Given the description of an element on the screen output the (x, y) to click on. 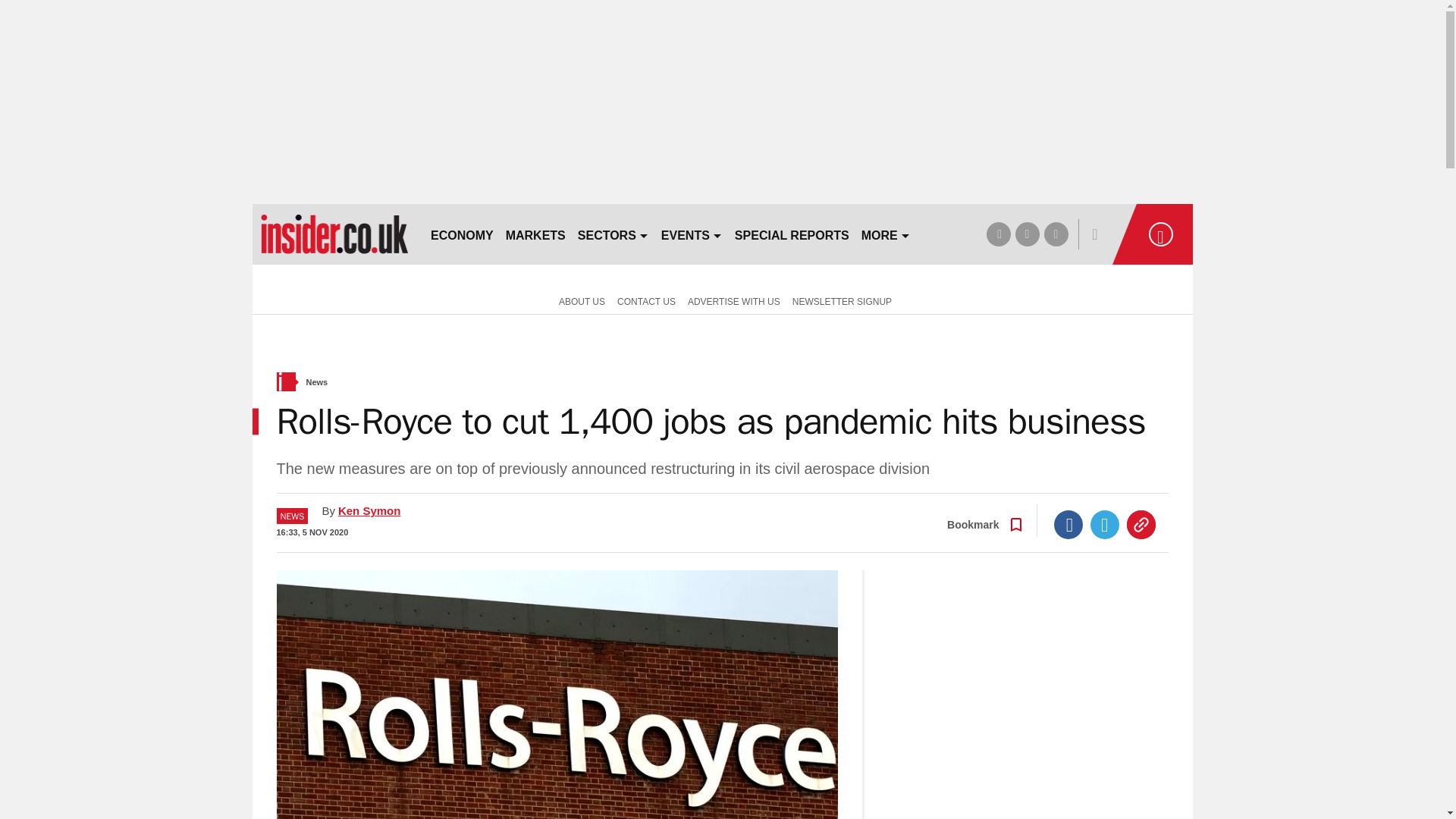
MORE (886, 233)
Twitter (1104, 524)
twitter (1026, 233)
EVENTS (692, 233)
News (317, 382)
NEWS (291, 515)
SECTORS (613, 233)
facebook (997, 233)
CONTACT US (646, 300)
Facebook (1068, 524)
